Given the description of an element on the screen output the (x, y) to click on. 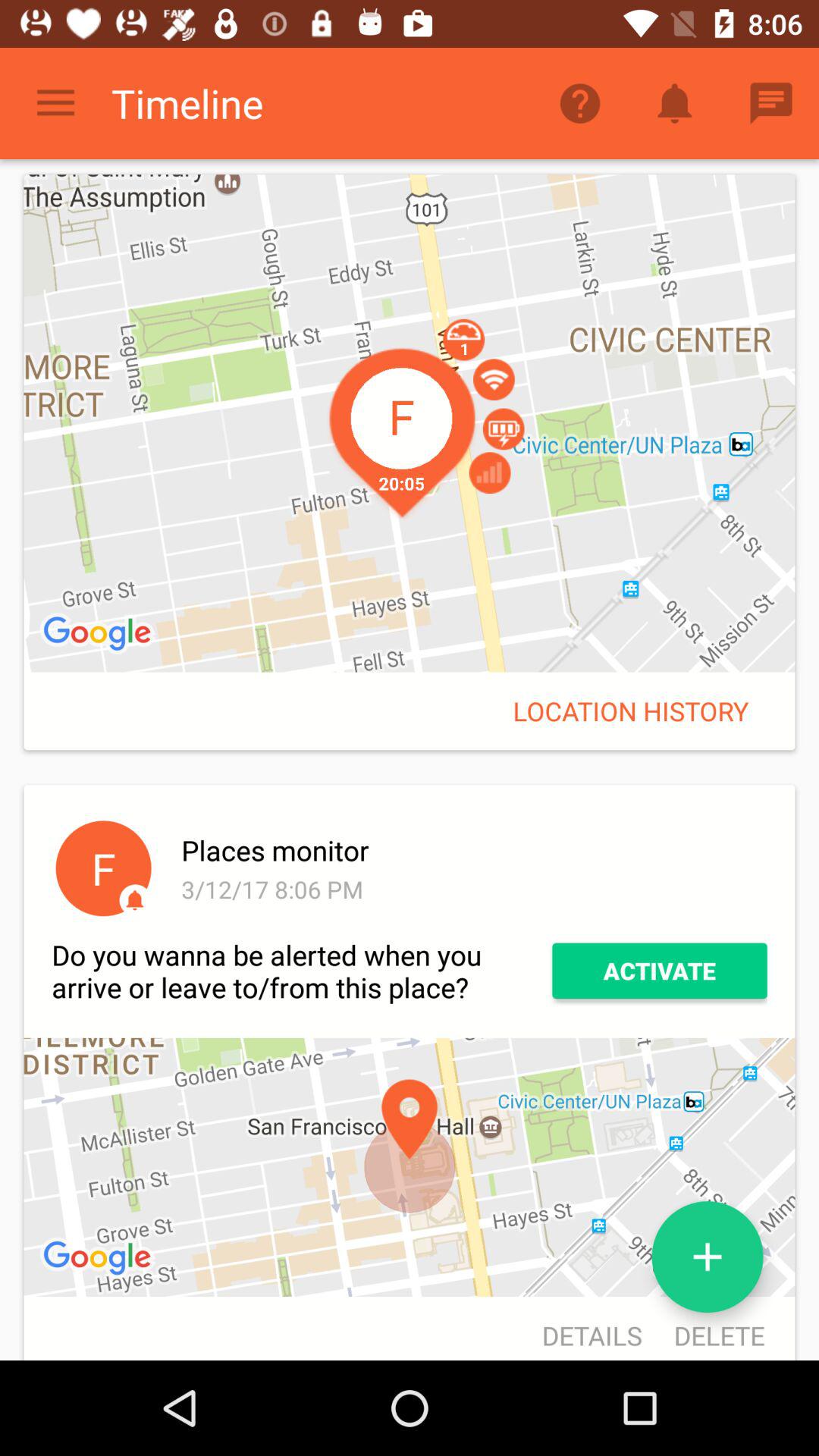
turn off item below the location history (472, 850)
